Given the description of an element on the screen output the (x, y) to click on. 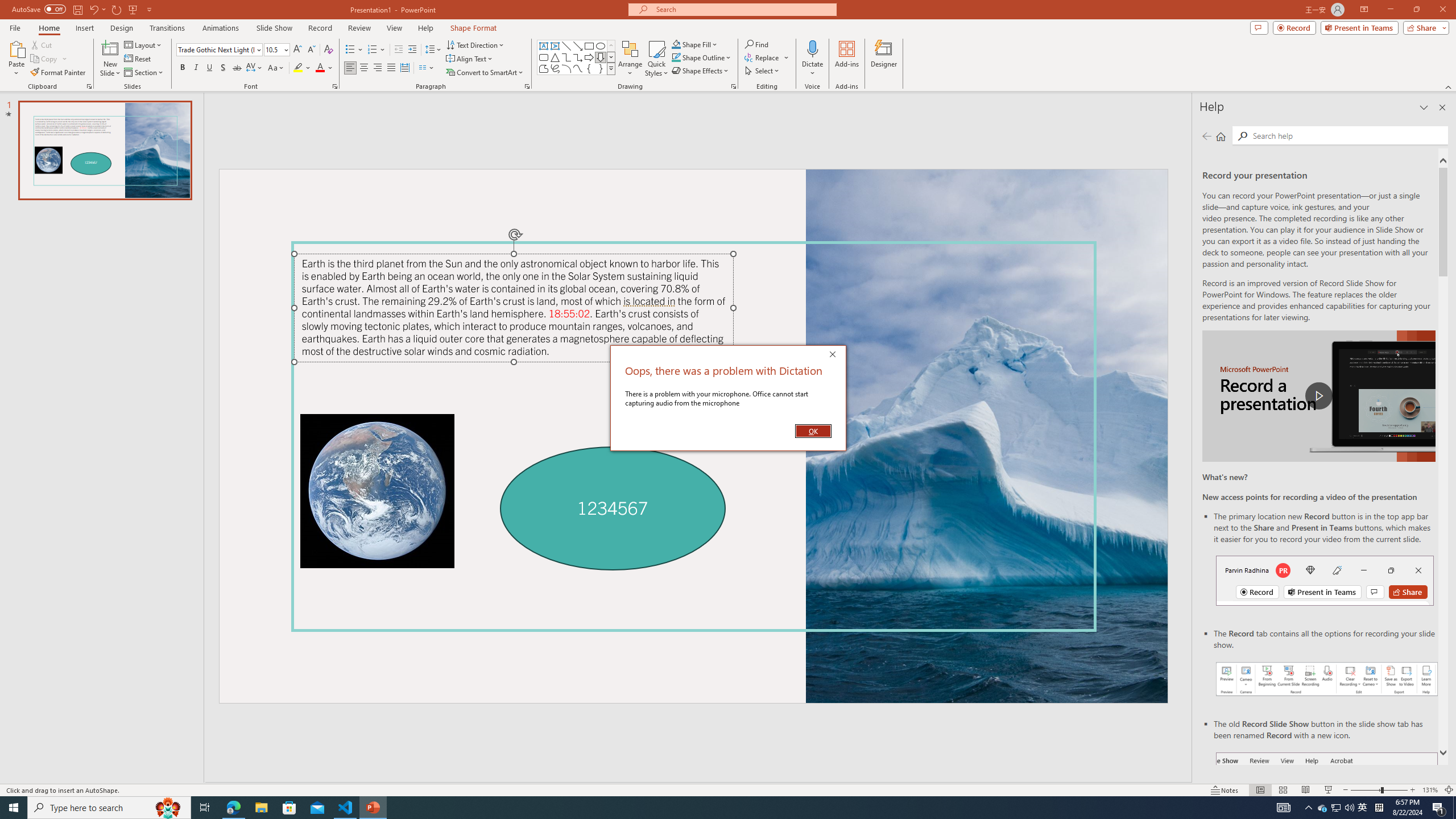
Running applications (700, 807)
